Given the description of an element on the screen output the (x, y) to click on. 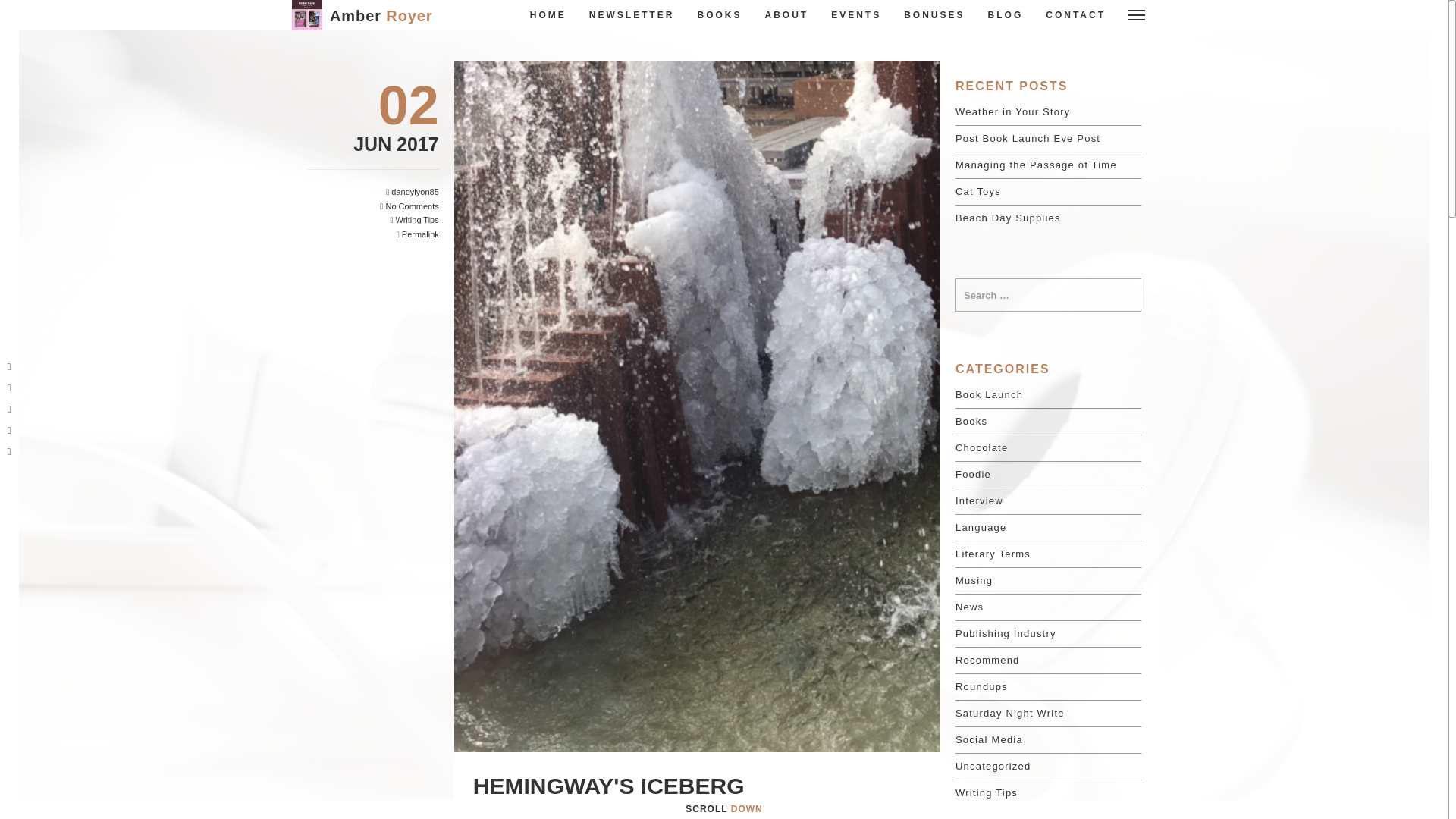
BLOG (1005, 15)
Writing Tips (416, 219)
EVENTS (855, 15)
BOOKS (719, 15)
Amber Royer (381, 15)
BONUSES (933, 15)
SCROLL DOWN (723, 808)
NEWSLETTER (632, 15)
HOME (547, 15)
No Comments (411, 205)
ABOUT (787, 15)
SCROLL DOWN (723, 808)
View all posts in Writing Tips (416, 219)
CONTACT (1075, 15)
View all posts by dandylyon85 (414, 191)
